Given the description of an element on the screen output the (x, y) to click on. 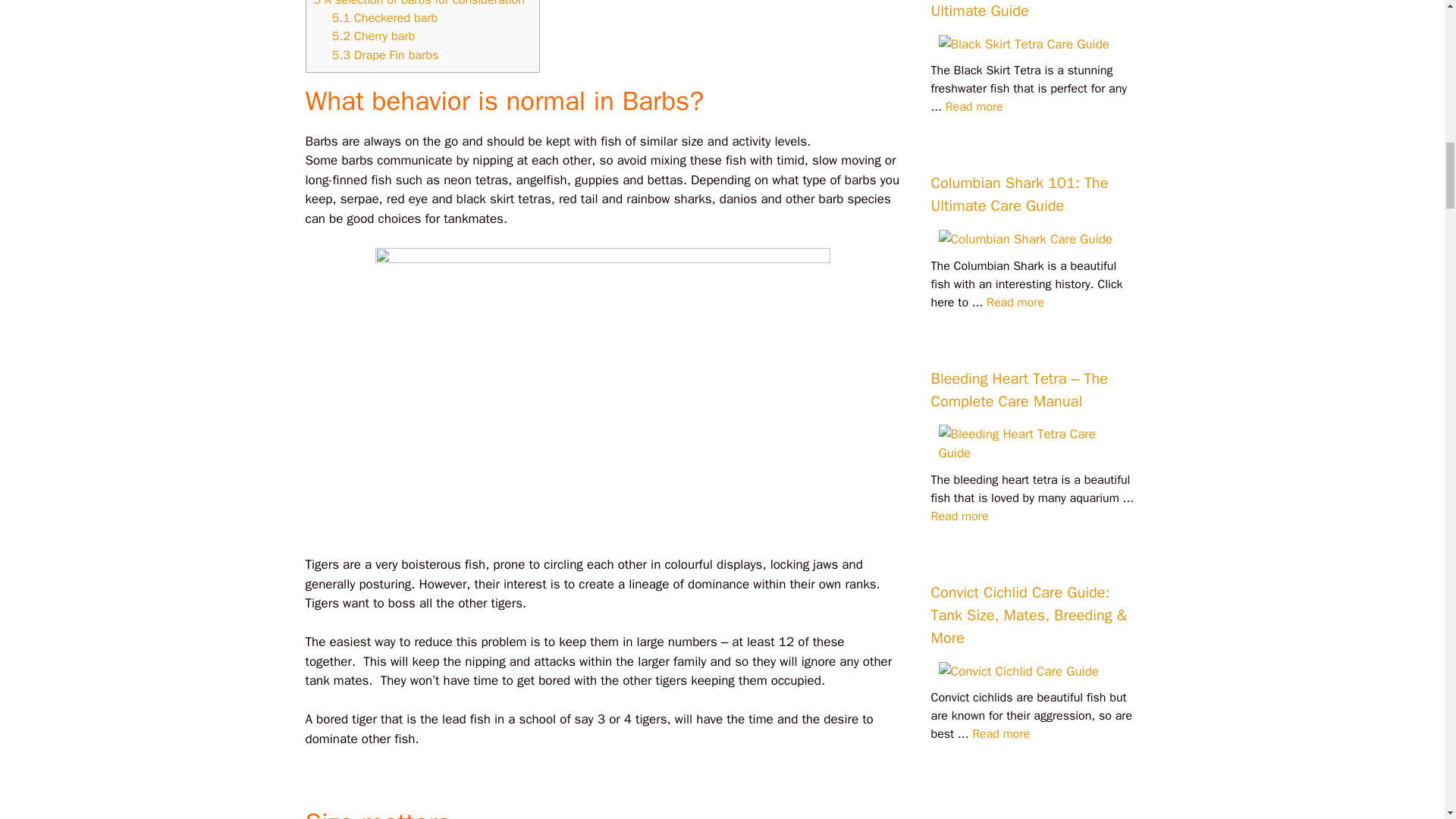
Columbian Shark 101: The Ultimate Care Guide (1015, 302)
Black Skirt Tetra Care: The Ultimate Guide (973, 106)
